Given the description of an element on the screen output the (x, y) to click on. 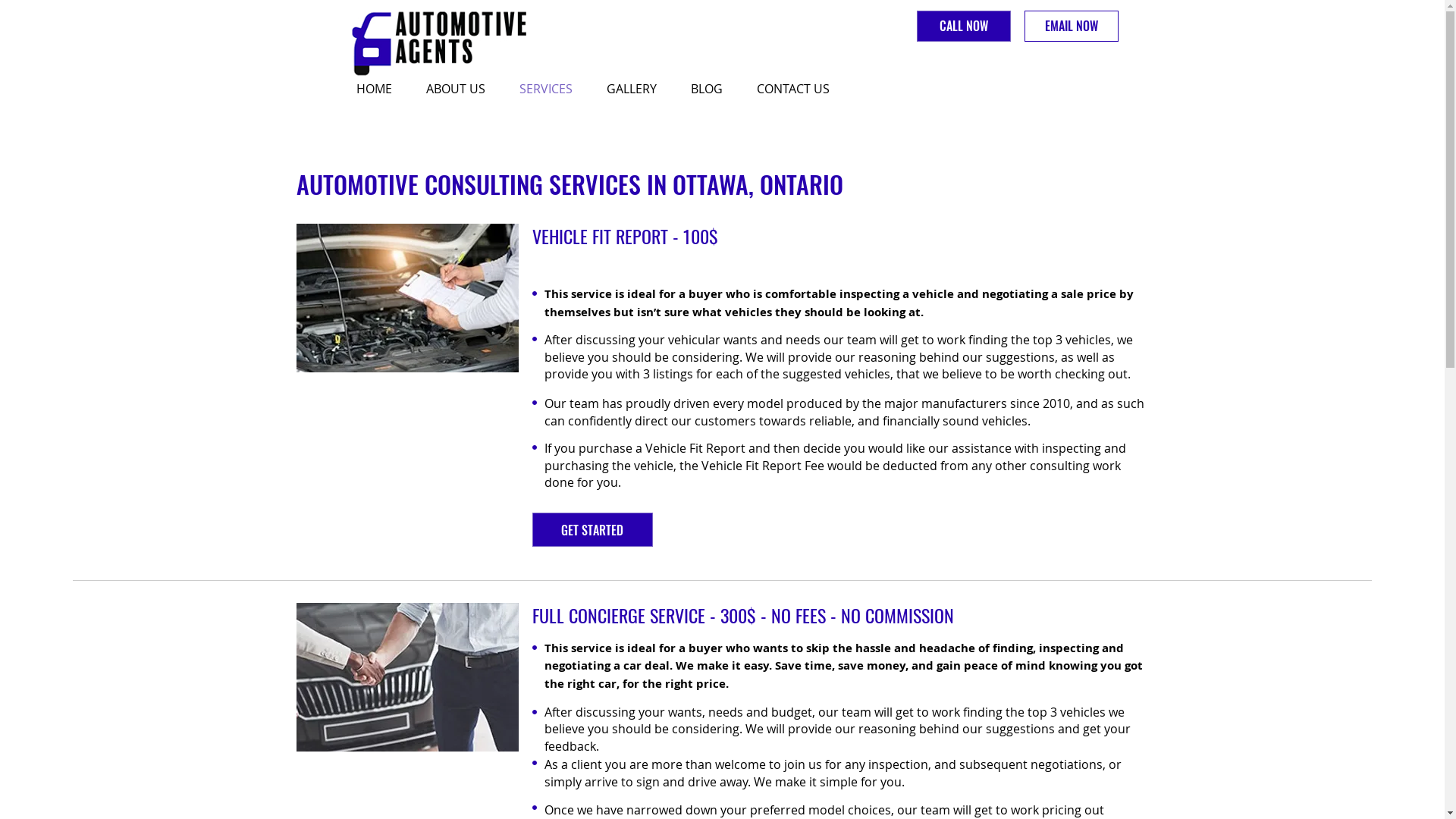
CALL NOW Element type: text (963, 25)
GALLERY Element type: text (636, 88)
BLOG Element type: text (712, 88)
CONTACT US Element type: text (797, 88)
SERVICES Element type: text (551, 88)
GET STARTED Element type: text (592, 529)
ABOUT US Element type: text (460, 88)
EMAIL NOW Element type: text (1070, 25)
HOME Element type: text (379, 88)
